Given the description of an element on the screen output the (x, y) to click on. 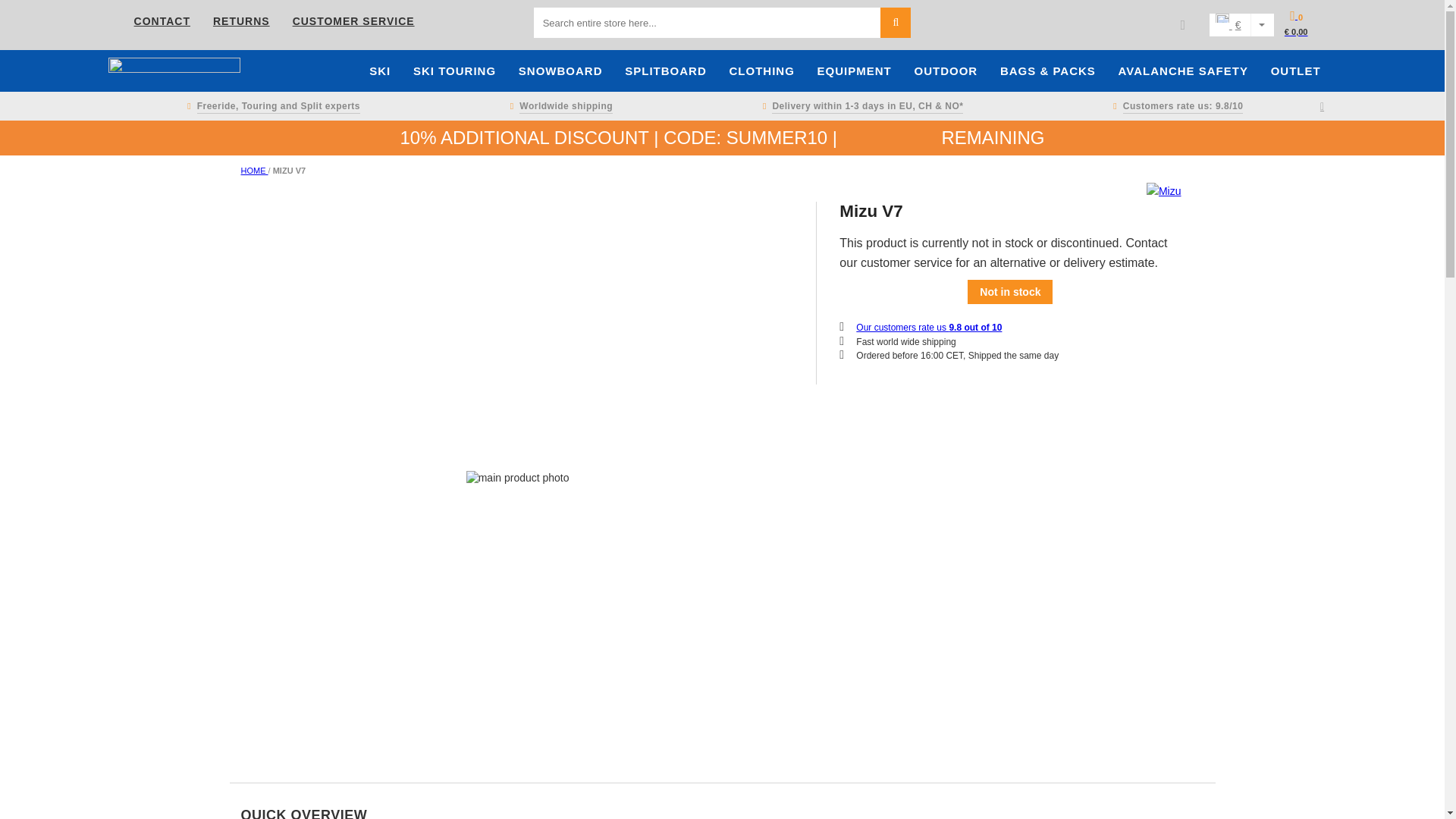
Search (895, 22)
Customers rate (1175, 105)
Go to Home Page (254, 170)
Delivery times (859, 105)
CONTACT (161, 21)
Search (895, 22)
RETURNS (240, 21)
SKI (379, 70)
CUSTOMER SERVICE (353, 21)
Worldwide shipping (557, 105)
